Given the description of an element on the screen output the (x, y) to click on. 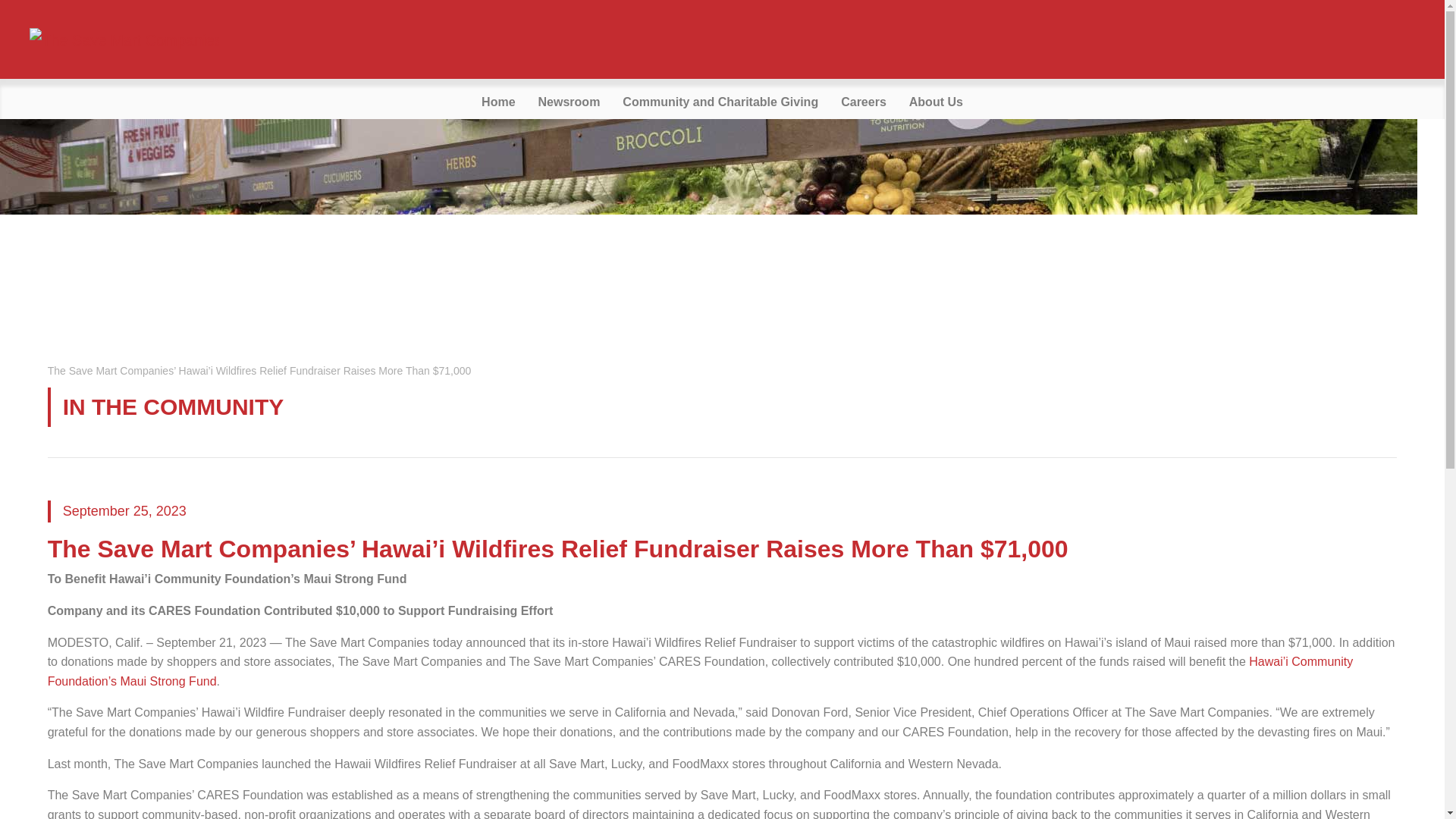
Careers (863, 102)
About Us (936, 102)
Community and Charitable Giving (720, 102)
Community and Charitable Giving (720, 102)
Newsroom (569, 102)
About Us (936, 102)
Home (497, 102)
Home (497, 102)
Newsroom (569, 102)
Careers (863, 102)
